Given the description of an element on the screen output the (x, y) to click on. 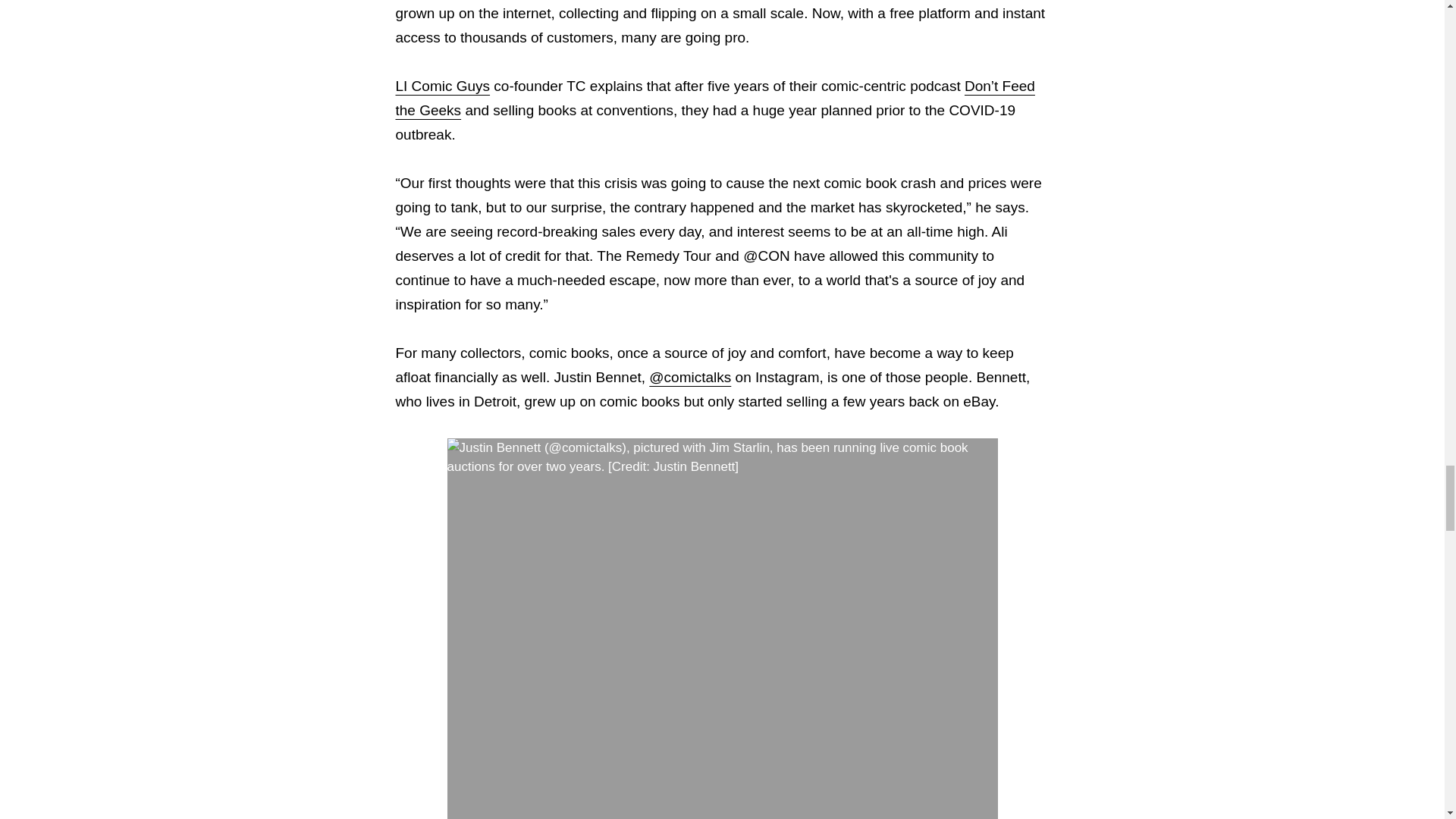
LI Comic Guys (443, 85)
